Given the description of an element on the screen output the (x, y) to click on. 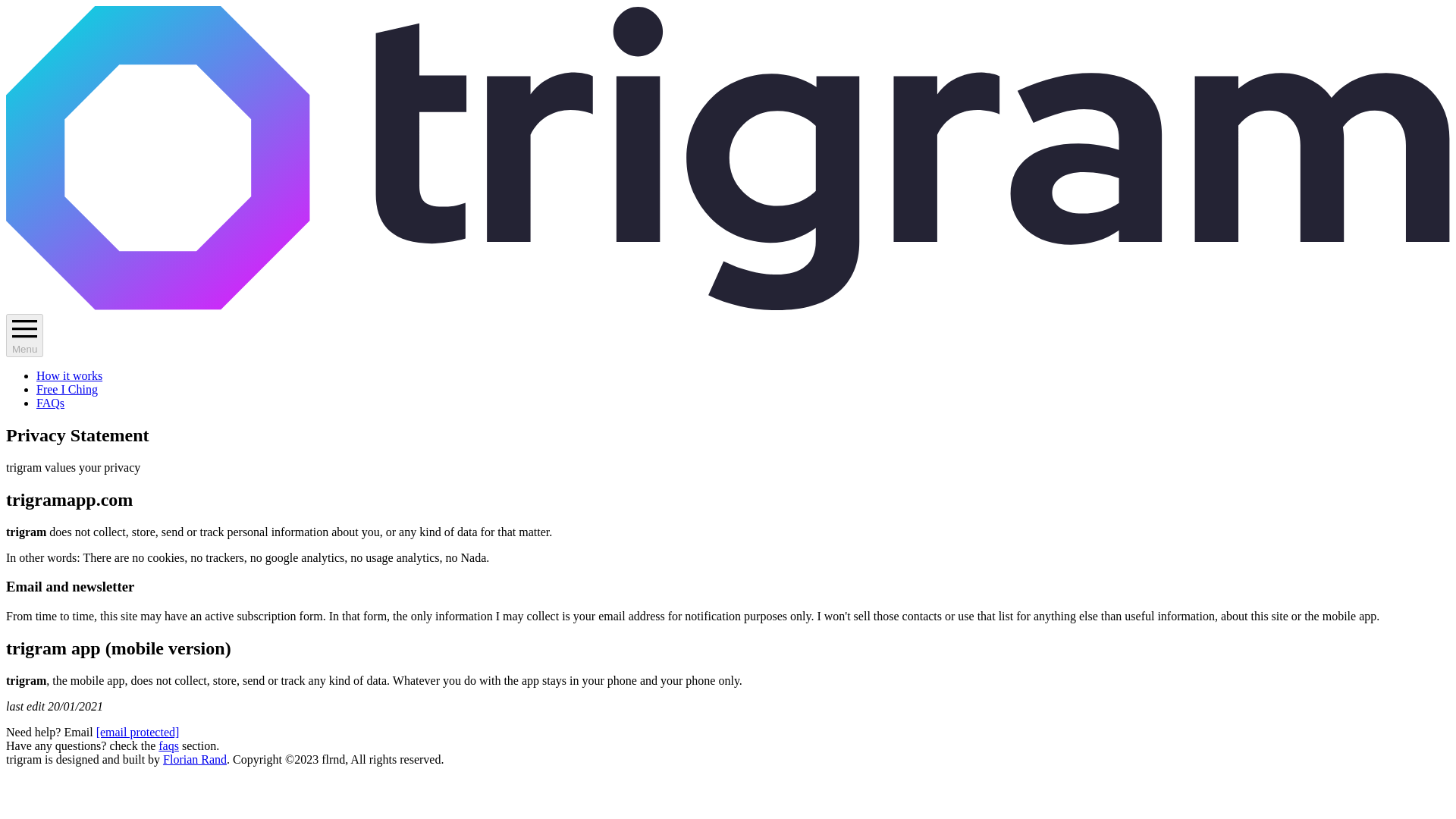
faqs (168, 745)
How it works (68, 375)
Menu (24, 328)
Free I Ching (66, 389)
FAQs (50, 402)
